Given the description of an element on the screen output the (x, y) to click on. 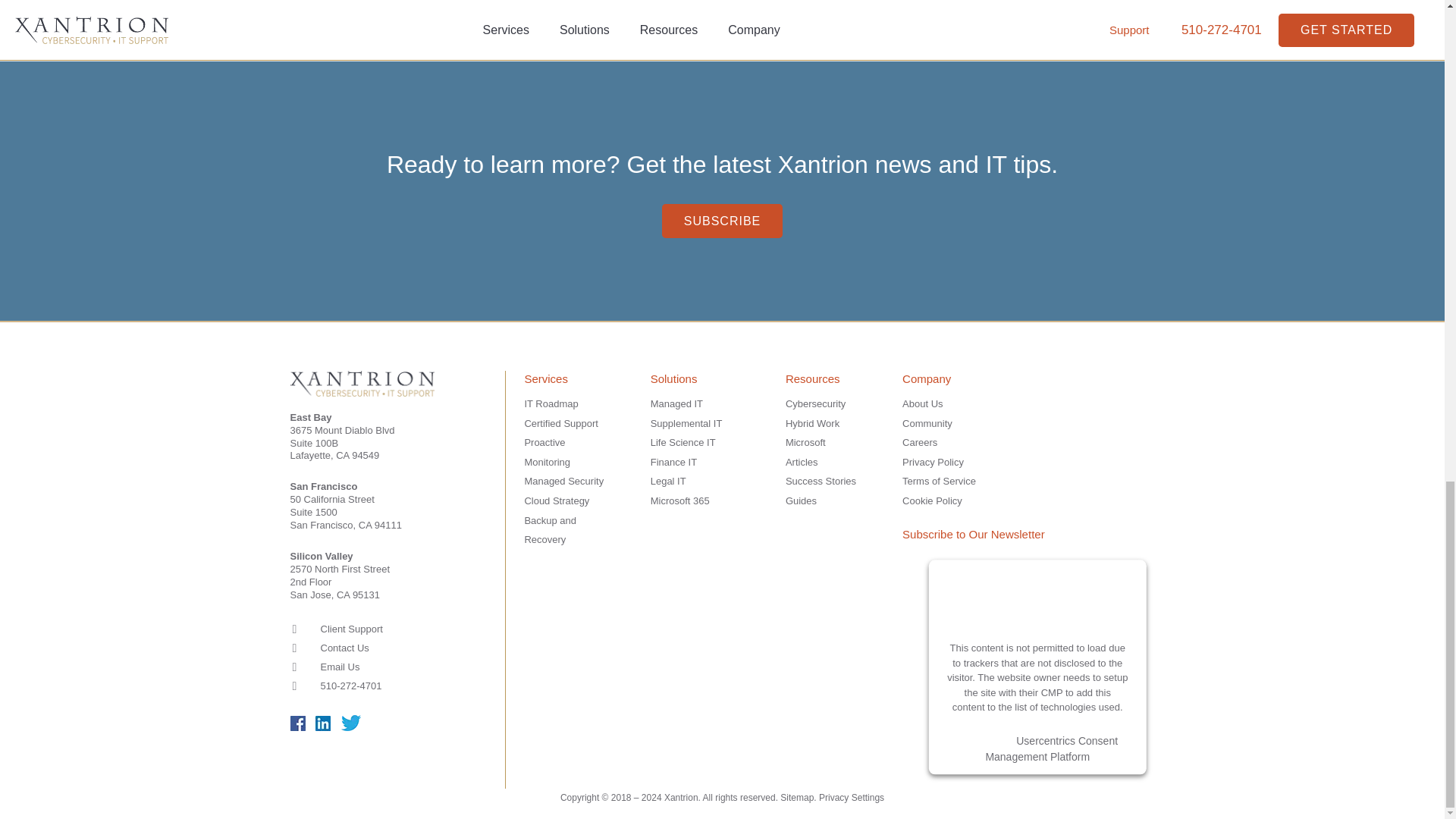
Contact Us (344, 647)
contact us (787, 5)
Client Support (350, 628)
SUBSCRIBE (722, 220)
